Given the description of an element on the screen output the (x, y) to click on. 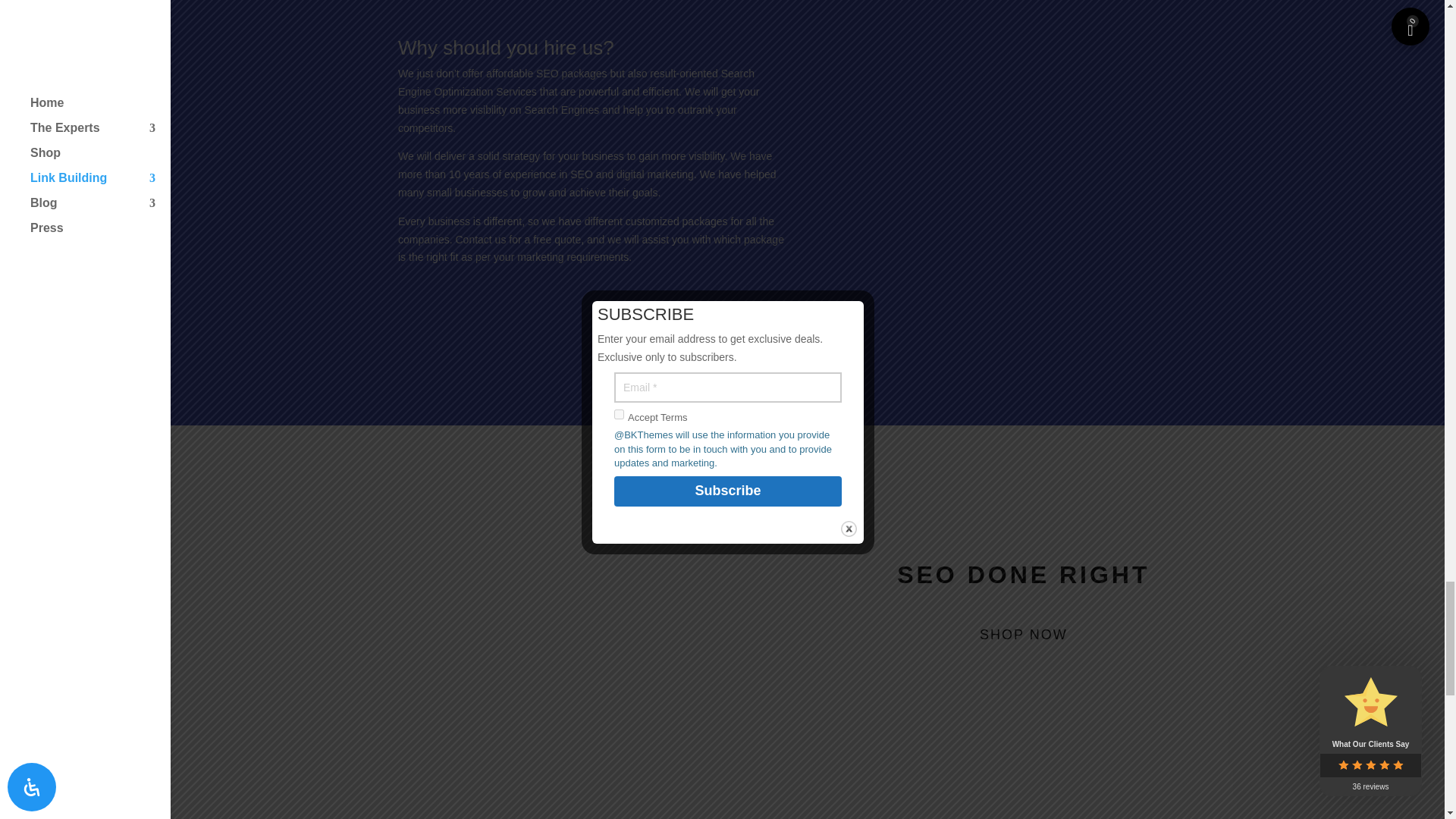
What-Possible (590, 660)
